Given the description of an element on the screen output the (x, y) to click on. 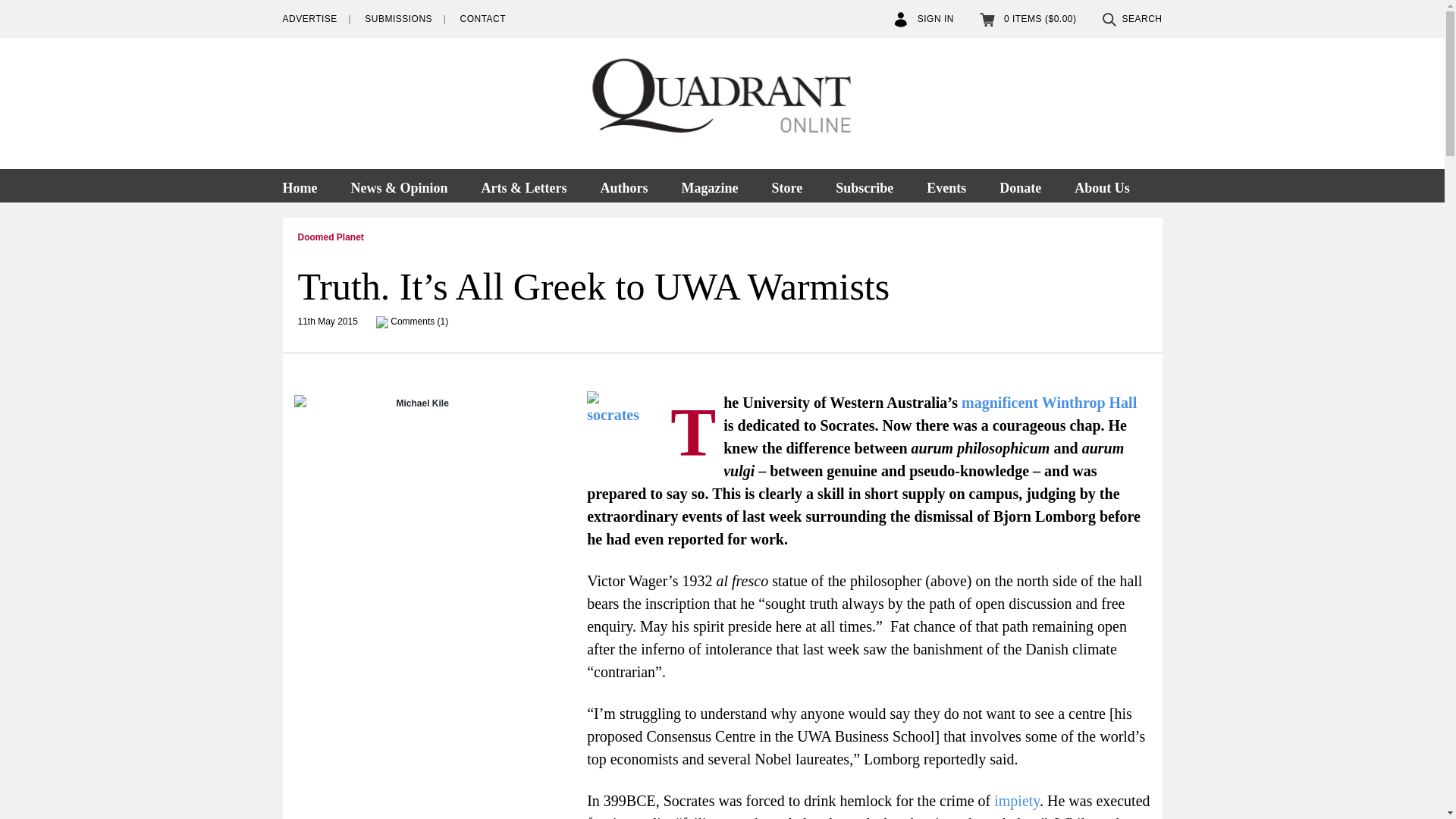
SIGN IN (923, 18)
SUBMISSIONS (398, 18)
About Us (1101, 185)
Donate (1020, 185)
Authors (623, 185)
Subscribe (864, 185)
Magazine (708, 185)
Store (785, 185)
SEARCH (1131, 18)
Home (306, 185)
ADVERTISE (309, 18)
Events (946, 185)
Impiety (1016, 800)
CONTACT (482, 18)
